Given the description of an element on the screen output the (x, y) to click on. 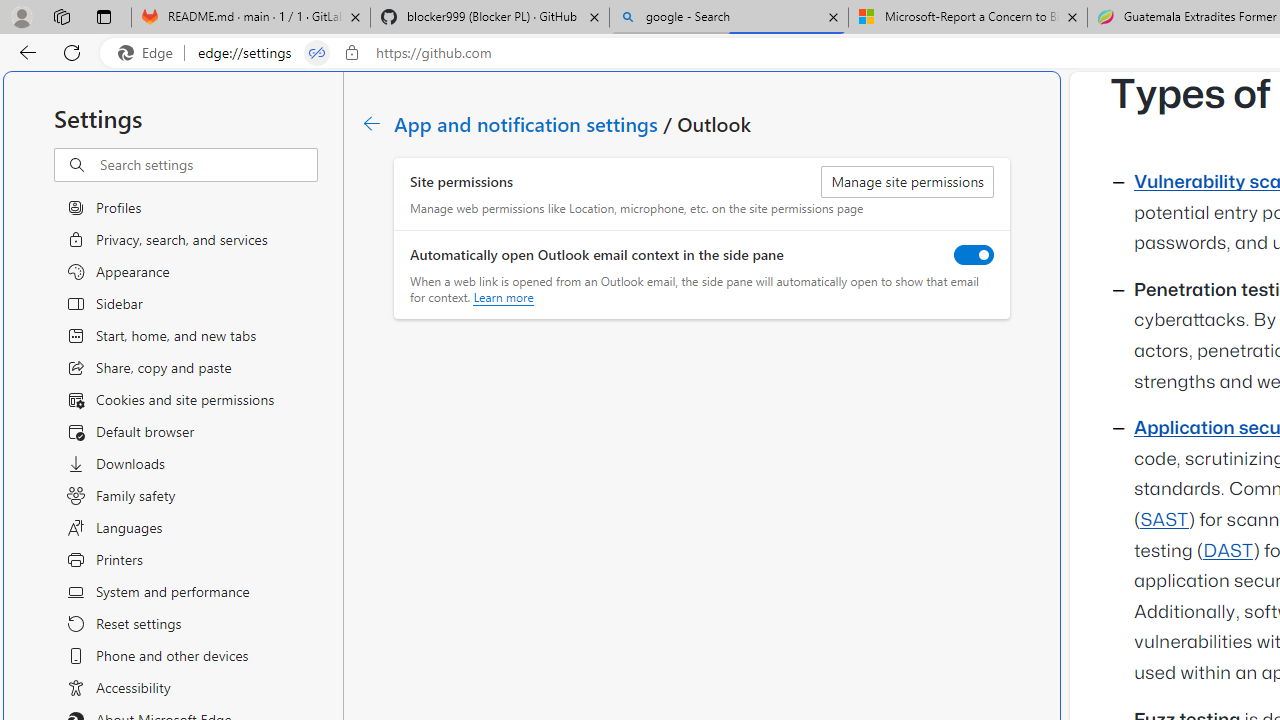
Class: c01182 (371, 123)
Search settings (207, 165)
Learn more (503, 297)
Edge (150, 53)
App and notification settings (527, 123)
